Given the description of an element on the screen output the (x, y) to click on. 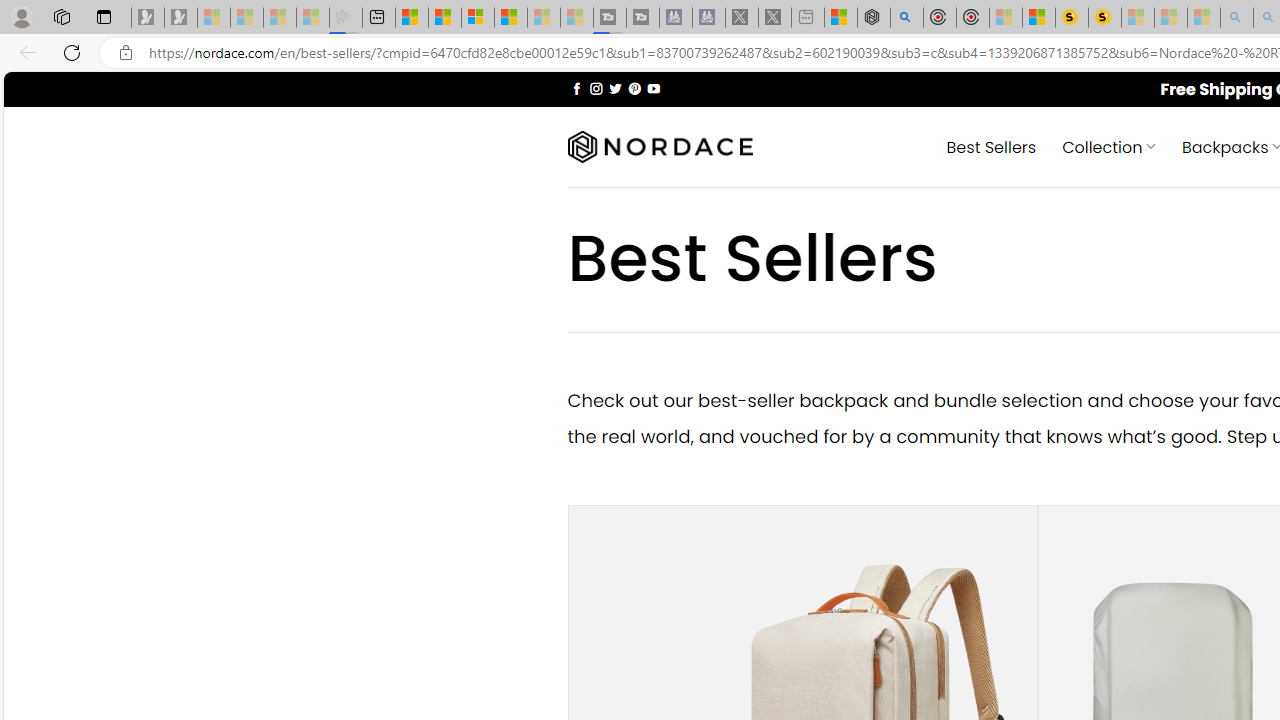
Follow on Instagram (596, 88)
Follow on Pinterest (634, 88)
Overview (478, 17)
poe - Search (906, 17)
